Given the description of an element on the screen output the (x, y) to click on. 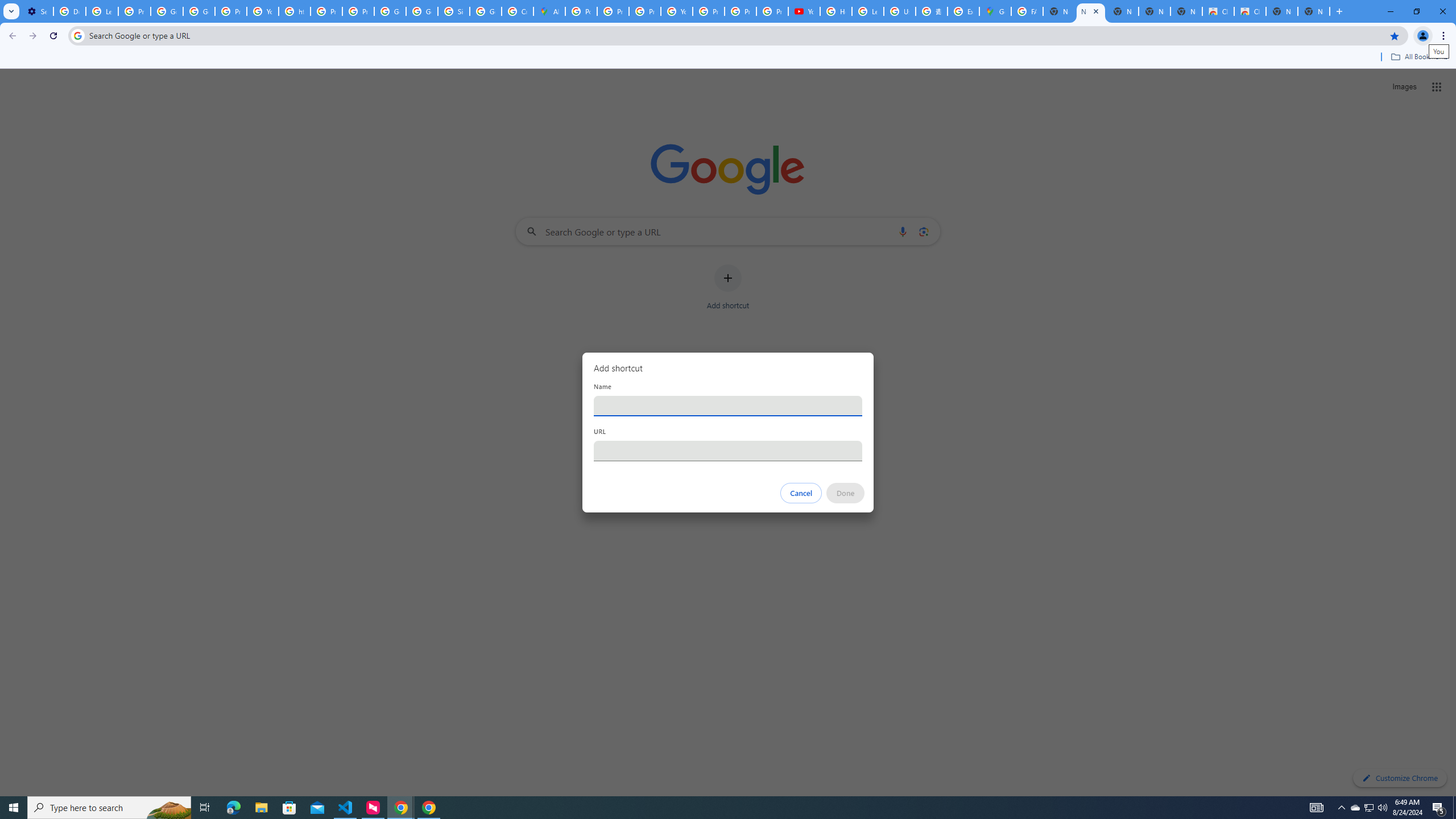
Privacy Help Center - Policies Help (326, 11)
Google Account Help (166, 11)
Explore new street-level details - Google Maps Help (963, 11)
How Chrome protects your passwords - Google Chrome Help (836, 11)
Name (727, 405)
New Tab (1313, 11)
Create your Google Account (517, 11)
